Given the description of an element on the screen output the (x, y) to click on. 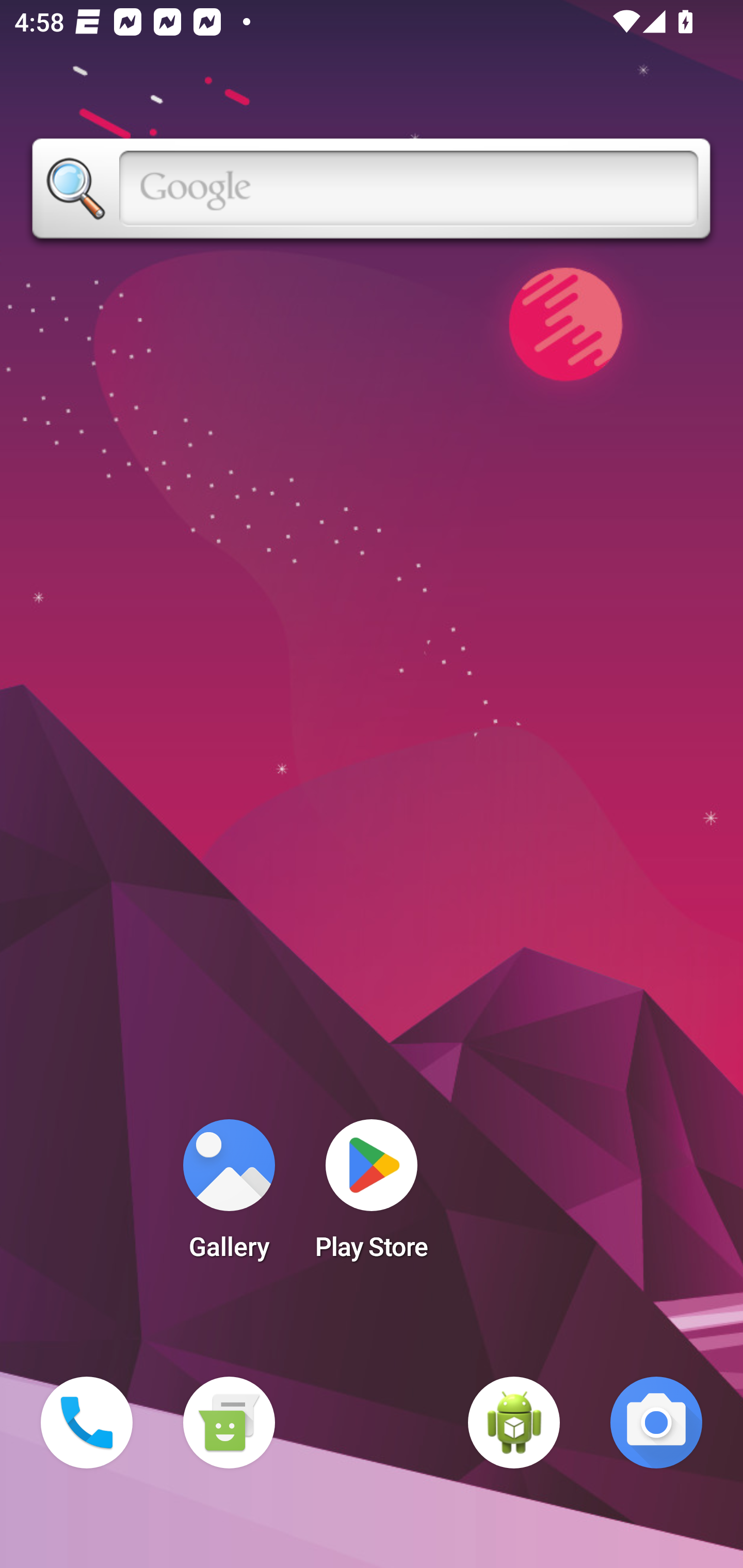
Gallery (228, 1195)
Play Store (371, 1195)
Phone (86, 1422)
Messaging (228, 1422)
WebView Browser Tester (513, 1422)
Camera (656, 1422)
